Given the description of an element on the screen output the (x, y) to click on. 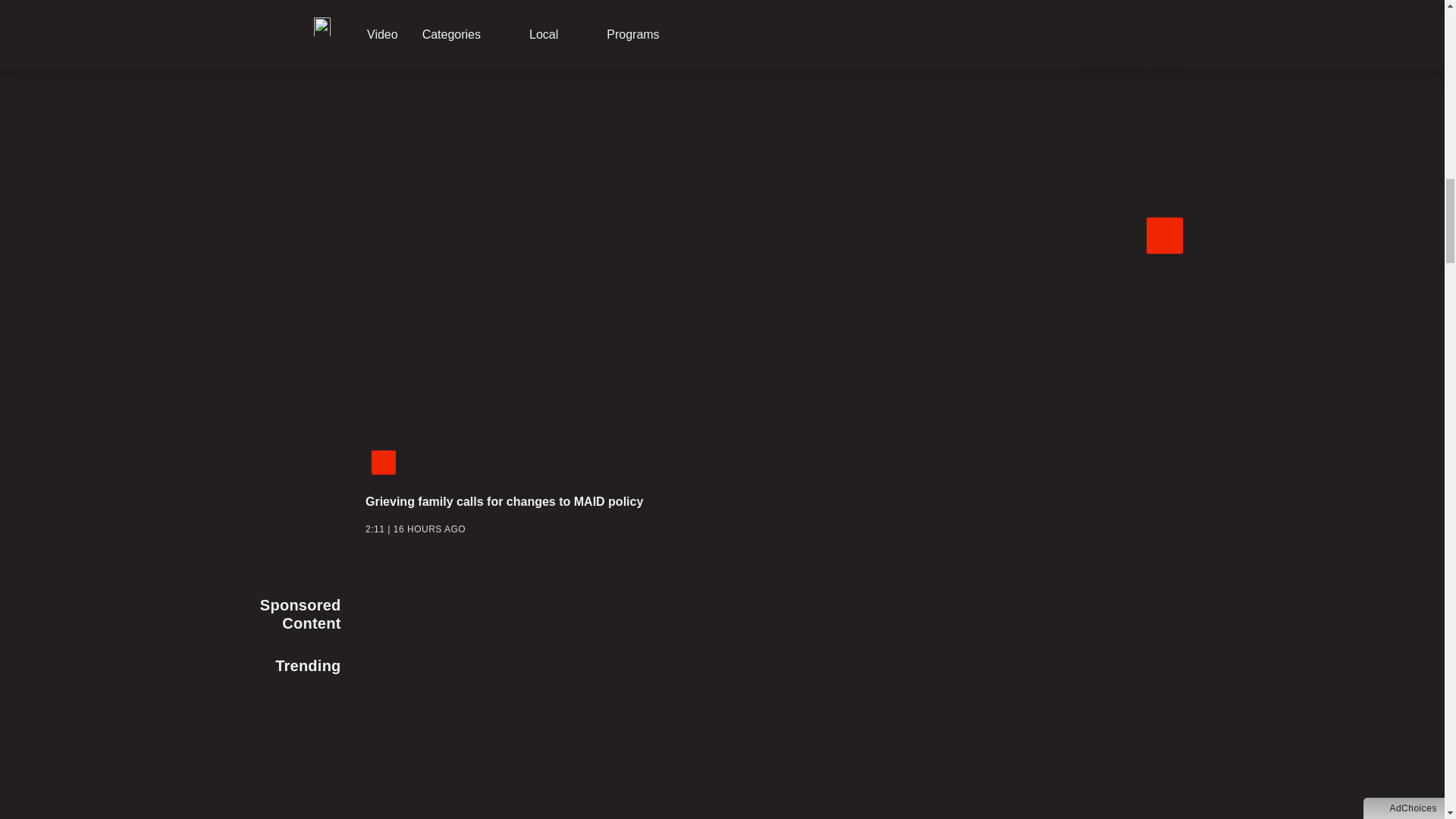
Edmonton weather forecast: Tuesday, June 18, 2024 (1080, 342)
Global News Hour at 6 Edmonton: June 18 (1080, 430)
